Given the description of an element on the screen output the (x, y) to click on. 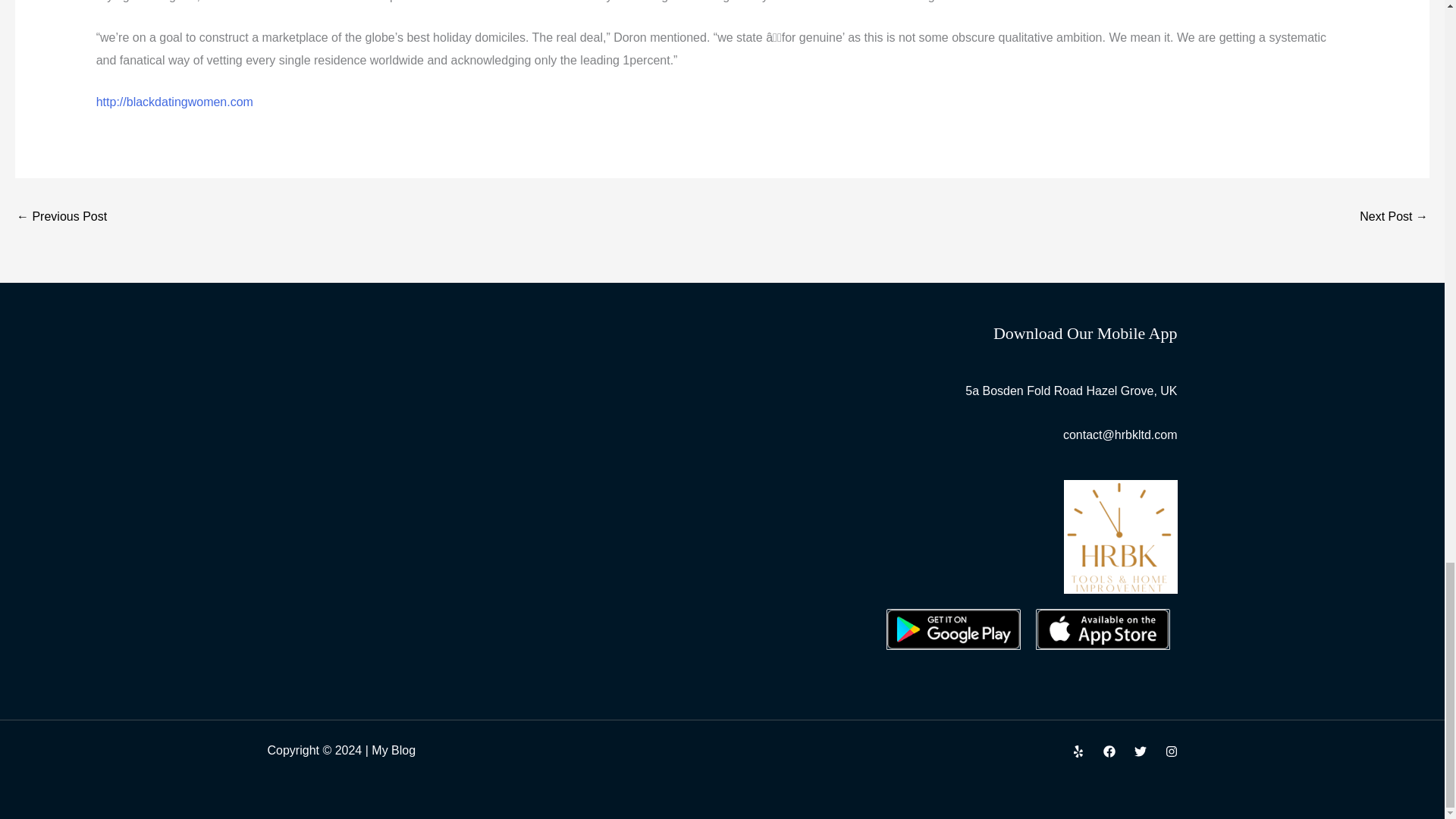
ChristianCupid Assessment 2021 (61, 217)
